Given the description of an element on the screen output the (x, y) to click on. 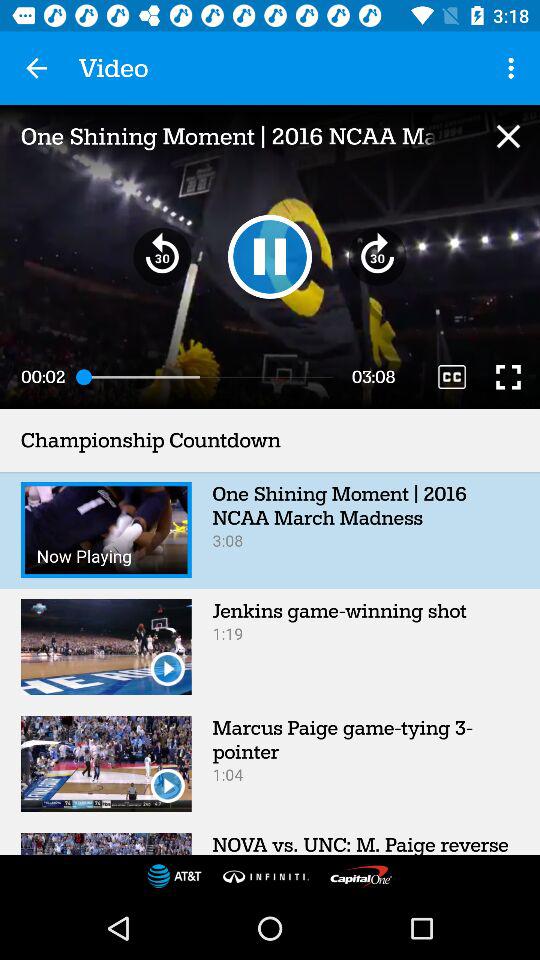
cc (452, 376)
